Given the description of an element on the screen output the (x, y) to click on. 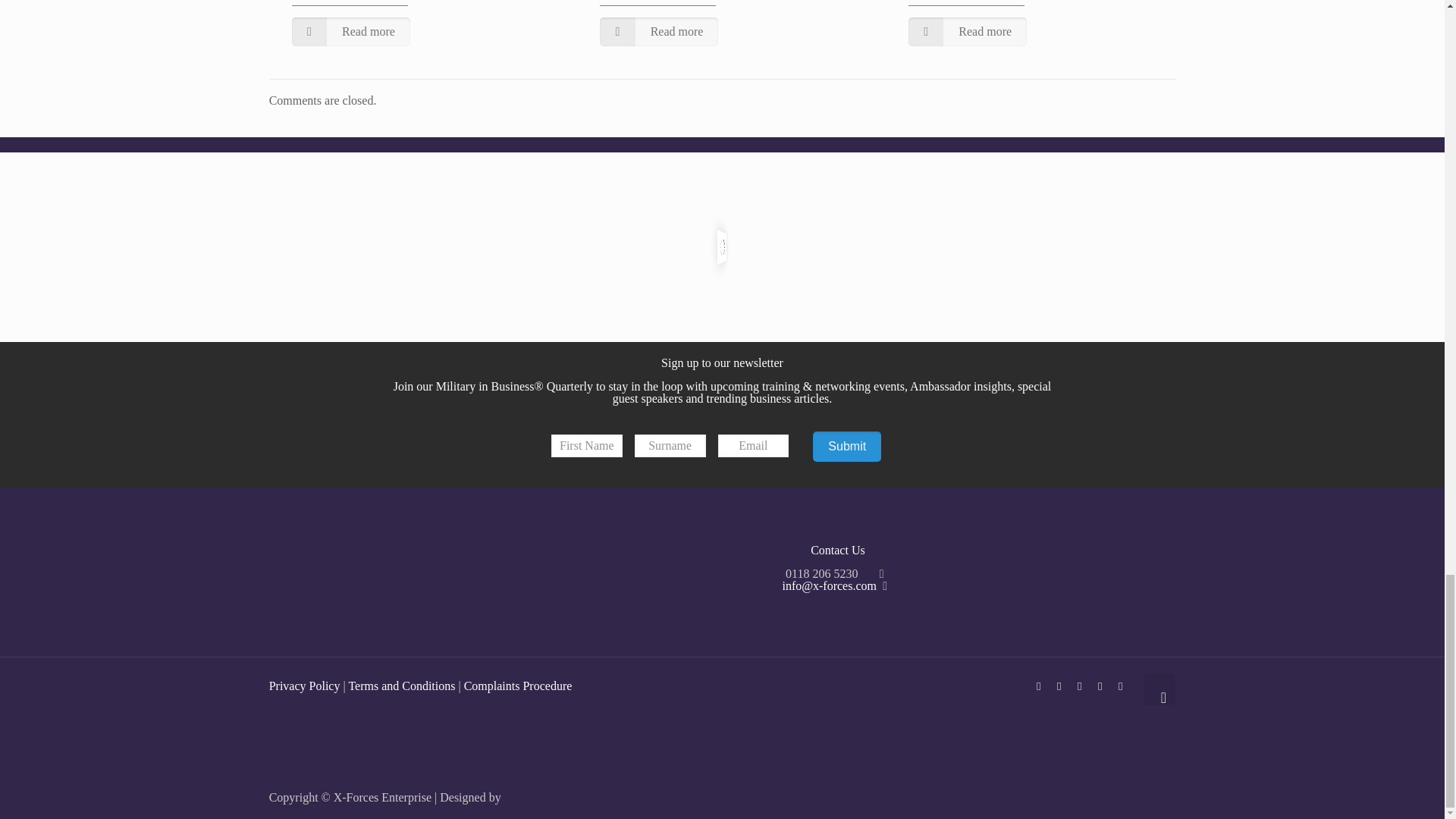
Facebook (1038, 686)
Twitter (1059, 686)
Submit (846, 446)
LinkedIn (1100, 686)
YouTube (1079, 686)
Instagram (1120, 686)
